Given the description of an element on the screen output the (x, y) to click on. 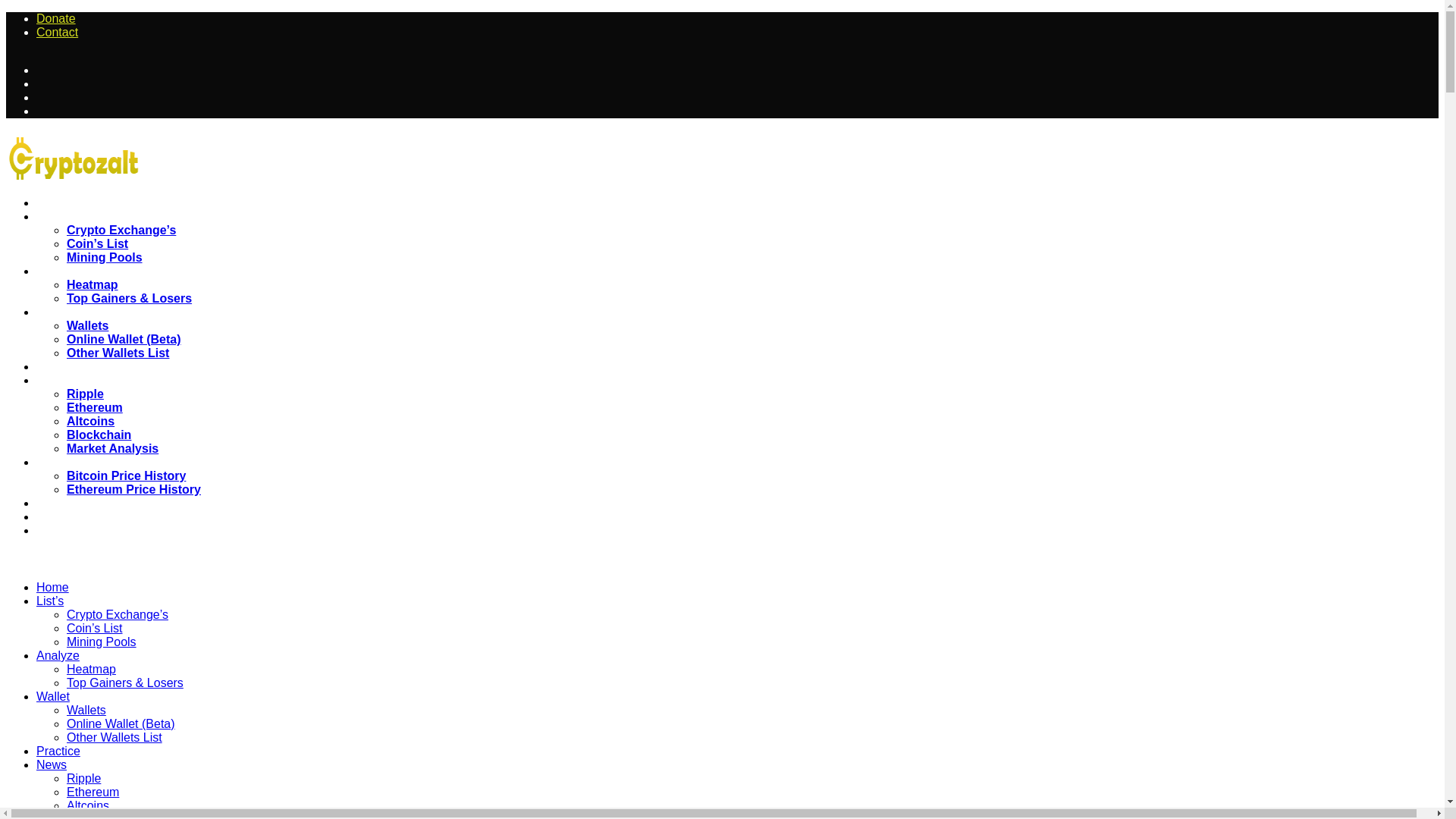
News (57, 353)
Altcoins (90, 393)
Ripple (84, 366)
Practice (63, 339)
Market Analysis (112, 420)
Home (58, 175)
Ethereum Price History (133, 461)
Bitcoin Price History (126, 448)
Donate (55, 38)
Blockchain (98, 407)
